Given the description of an element on the screen output the (x, y) to click on. 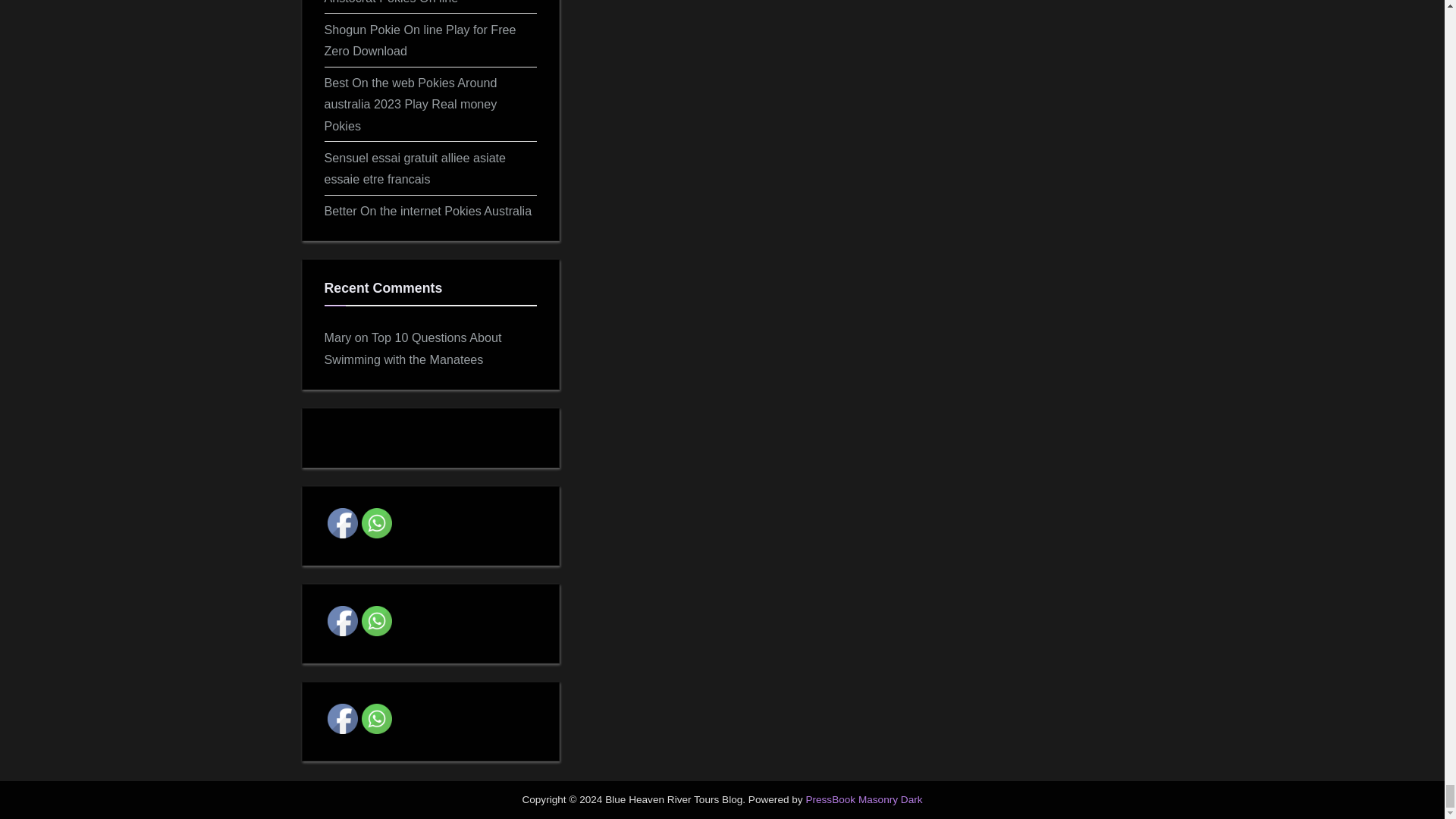
Facebook (342, 718)
Facebook (342, 522)
WhatsApp (376, 522)
WhatsApp (376, 718)
Facebook (342, 621)
WhatsApp (376, 621)
